Given the description of an element on the screen output the (x, y) to click on. 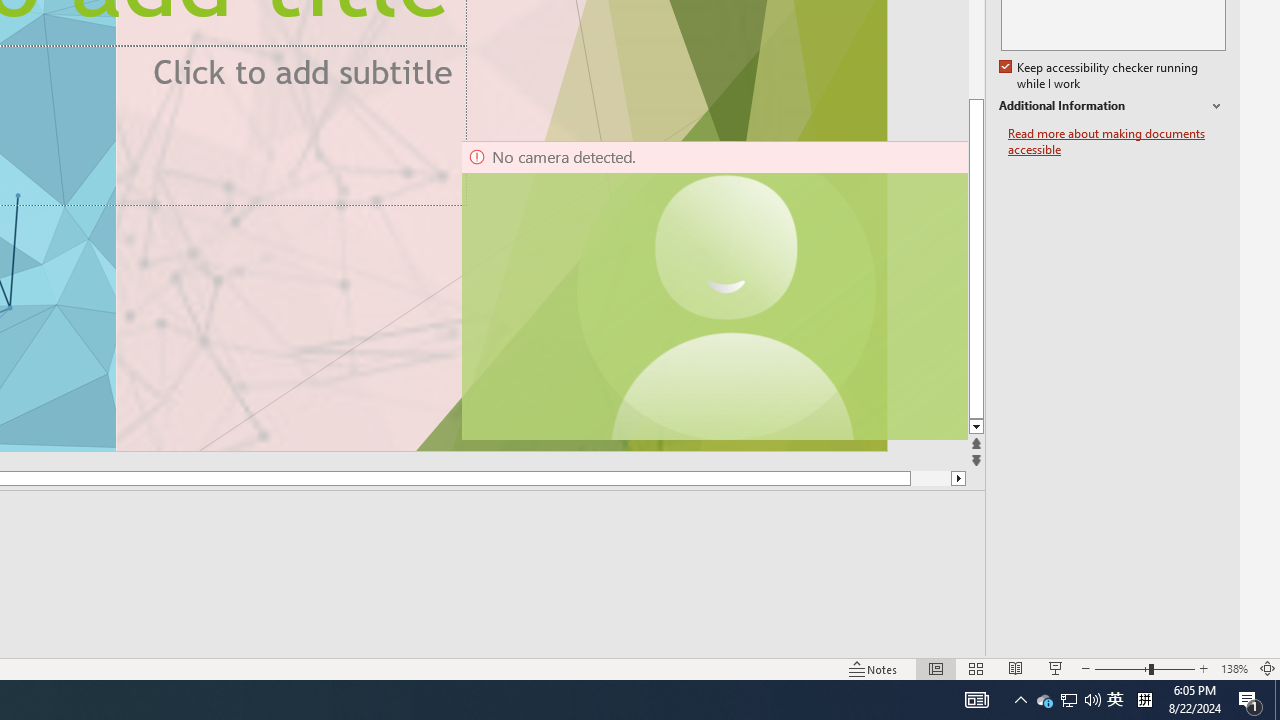
Zoom 138% (1234, 668)
Additional Information (1112, 106)
Keep accessibility checker running while I work (1099, 76)
Read more about making documents accessible (1117, 142)
Camera 11, No camera detected. (727, 290)
